Given the description of an element on the screen output the (x, y) to click on. 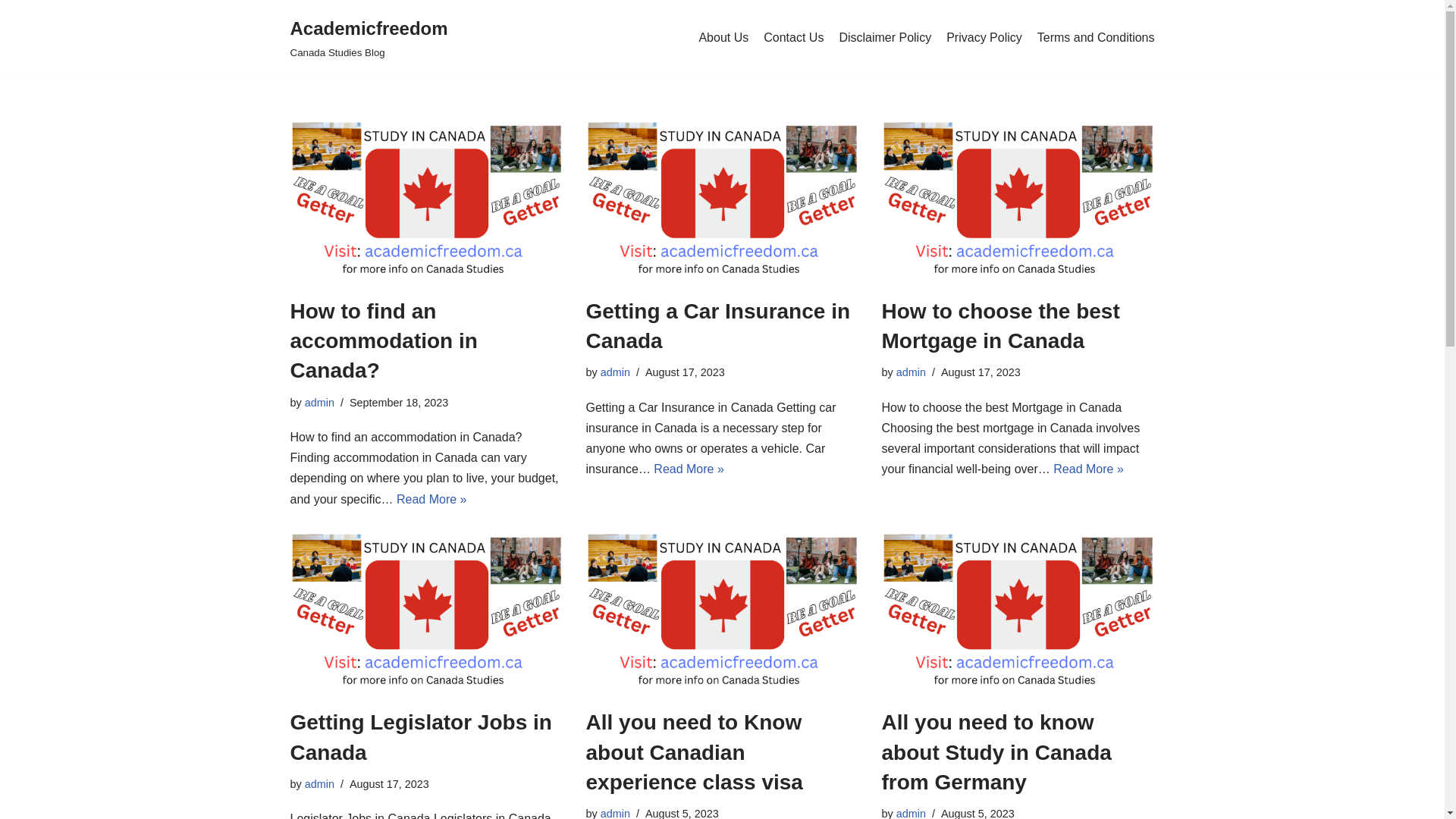
All you need to know about Study in Canada from Germany Element type: text (995, 751)
All you need to Know about Canadian experience class visa Element type: hover (721, 612)
Contact Us Element type: text (793, 37)
Academicfreedom
Canada Studies Blog Element type: text (368, 37)
All you need to know about Study in Canada from Germany Element type: hover (1017, 612)
How to find an accommodation in Canada? Element type: text (382, 340)
Getting Legislator Jobs in Canada Element type: text (420, 736)
Getting Legislator Jobs in Canada Element type: hover (425, 612)
How to choose the best Mortgage in Canada Element type: hover (1017, 200)
Disclaimer Policy Element type: text (884, 37)
admin Element type: text (319, 784)
admin Element type: text (319, 402)
How to find an accommodation in Canada? Element type: hover (425, 200)
All you need to Know about Canadian experience class visa Element type: text (693, 751)
Skip to content Element type: text (11, 31)
How to choose the best Mortgage in Canada Element type: text (1000, 325)
admin Element type: text (615, 372)
admin Element type: text (910, 372)
Getting a Car Insurance in Canada Element type: hover (721, 200)
About Us Element type: text (723, 37)
Terms and Conditions Element type: text (1095, 37)
Privacy Policy Element type: text (984, 37)
Getting a Car Insurance in Canada Element type: text (717, 325)
